Given the description of an element on the screen output the (x, y) to click on. 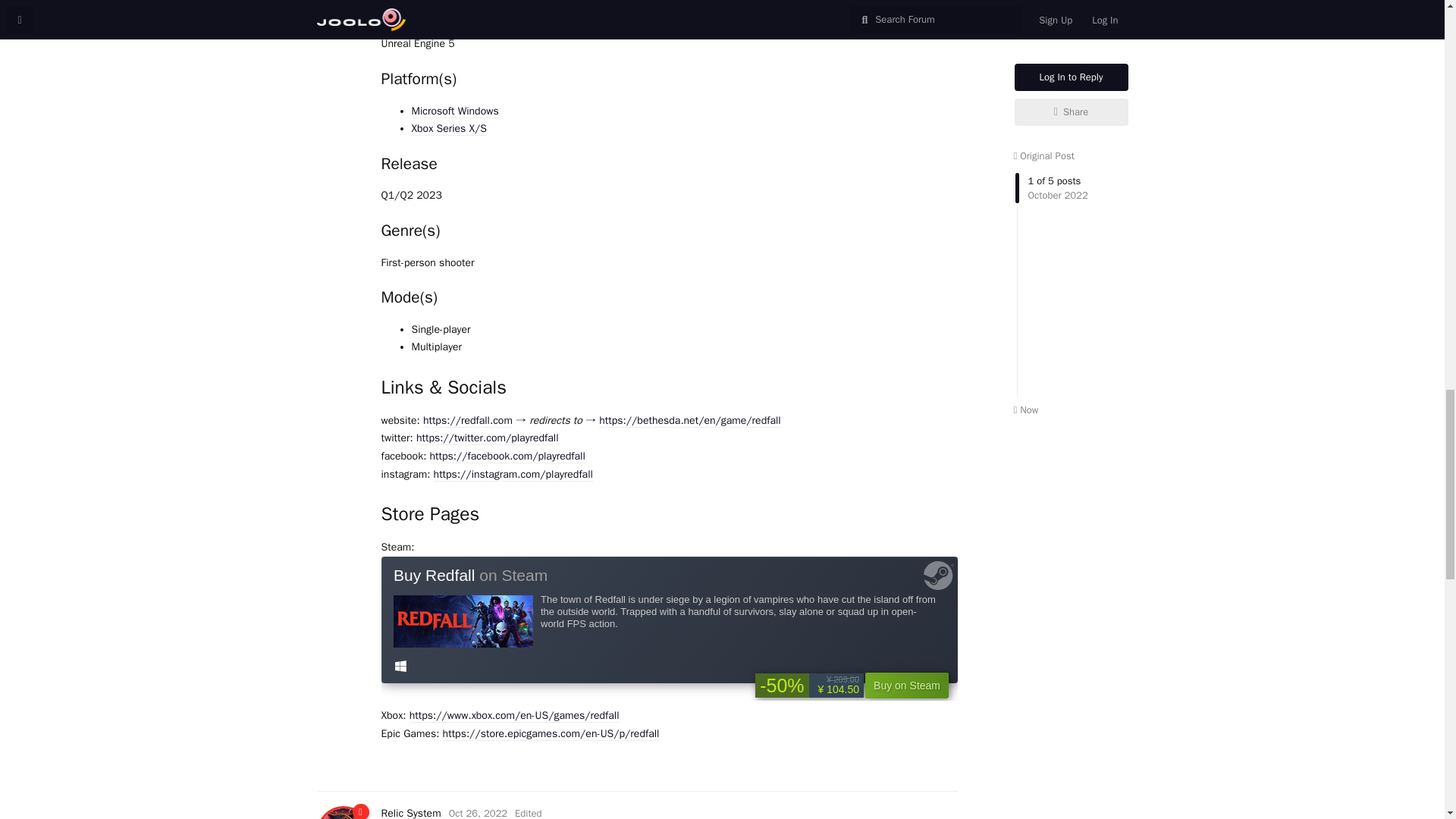
Microsoft Windows (453, 110)
Oct 26, 2022 (477, 812)
Wednesday, October 26, 2022 4:17 PM (477, 812)
Relic System (410, 812)
